Given the description of an element on the screen output the (x, y) to click on. 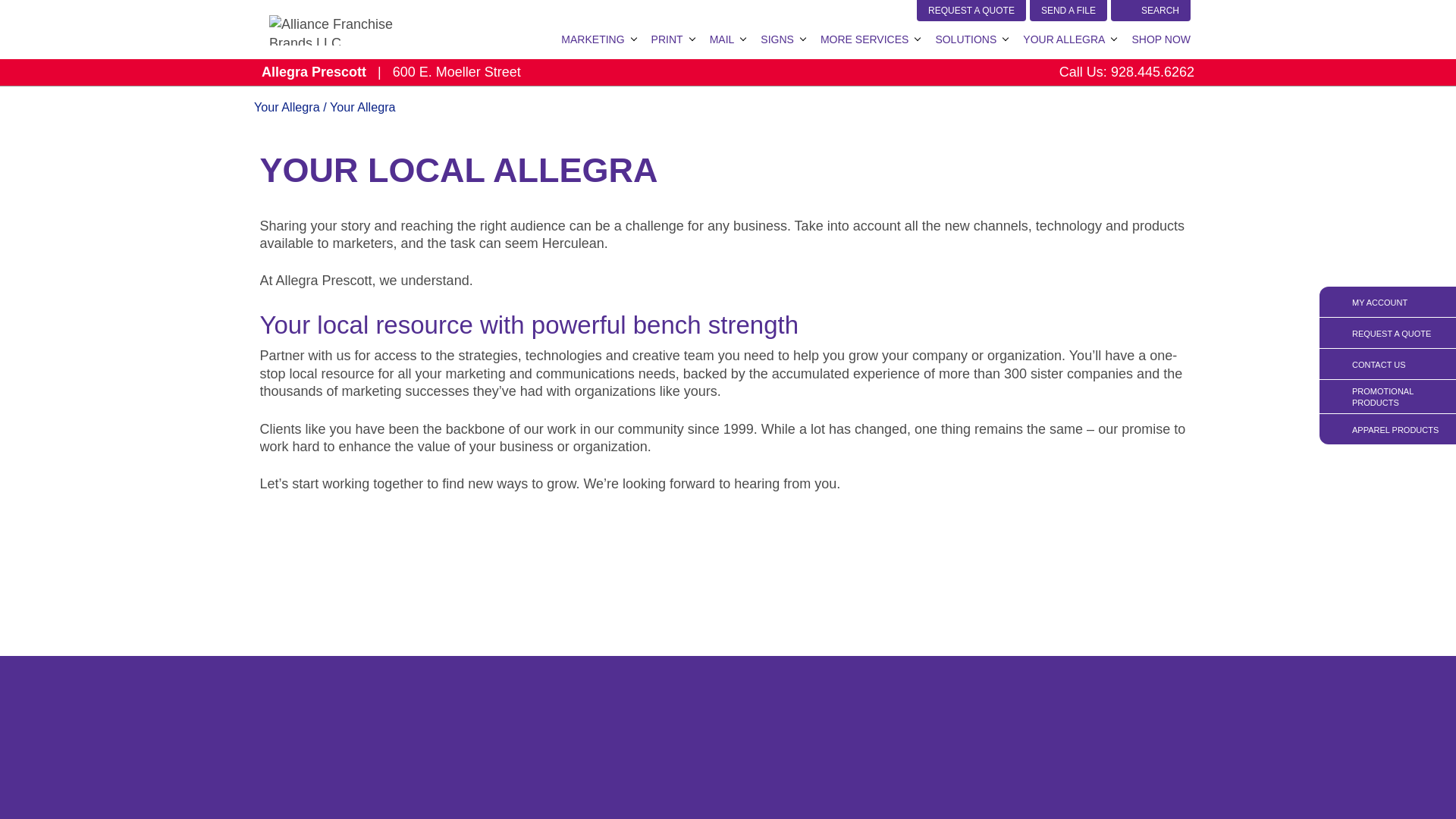
SIGNS (777, 39)
REQUEST A QUOTE (971, 10)
SEARCH (1150, 10)
MAIL (721, 39)
MARKETING (592, 39)
PRINT (667, 39)
SEND A FILE (1067, 10)
